Given the description of an element on the screen output the (x, y) to click on. 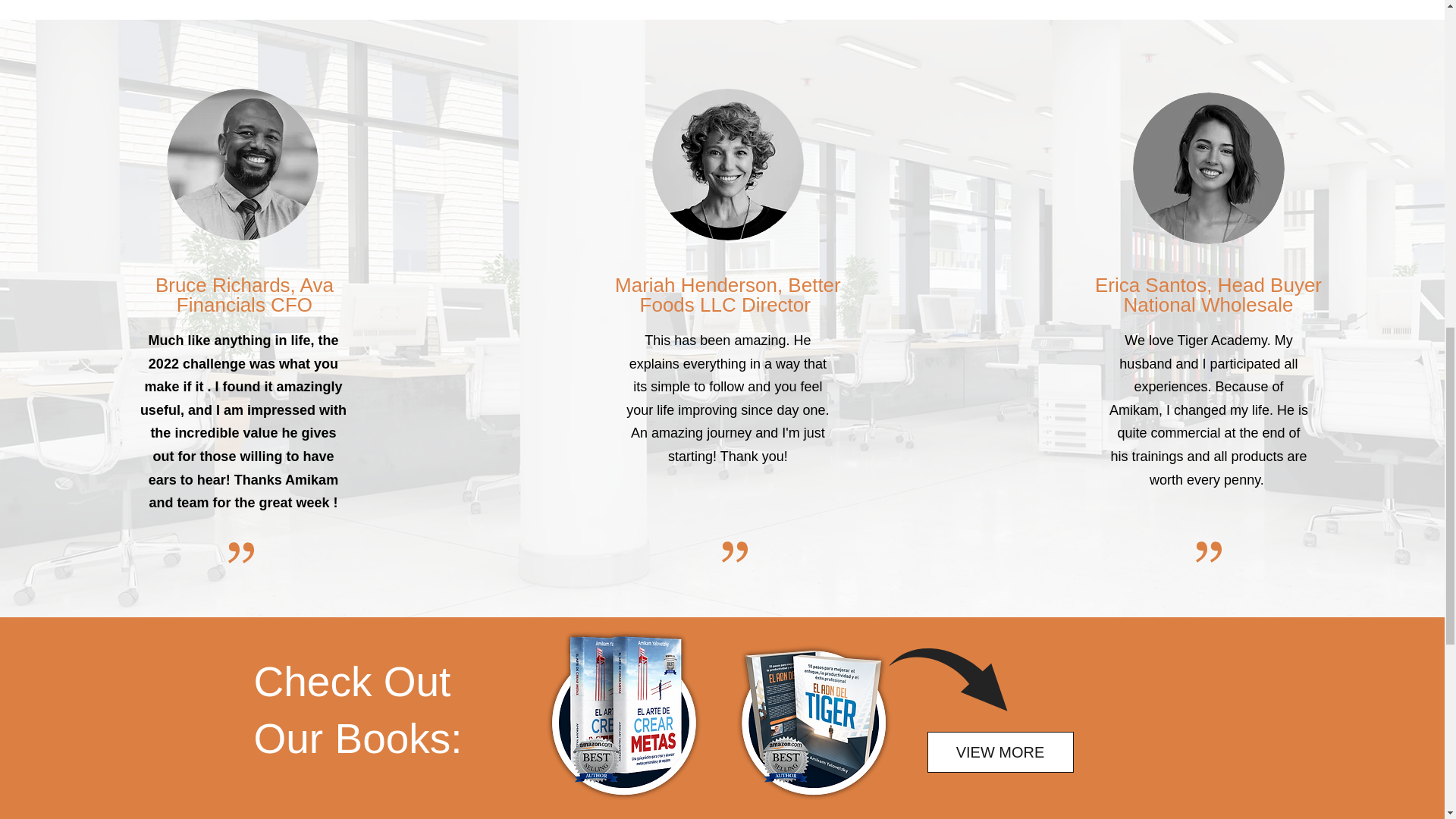
VIEW MORE (999, 752)
GettyImages-124893619.jpg (727, 164)
GettyImages-535587703.jpg (242, 164)
GettyImages-145680711.jpg (1208, 168)
